Given the description of an element on the screen output the (x, y) to click on. 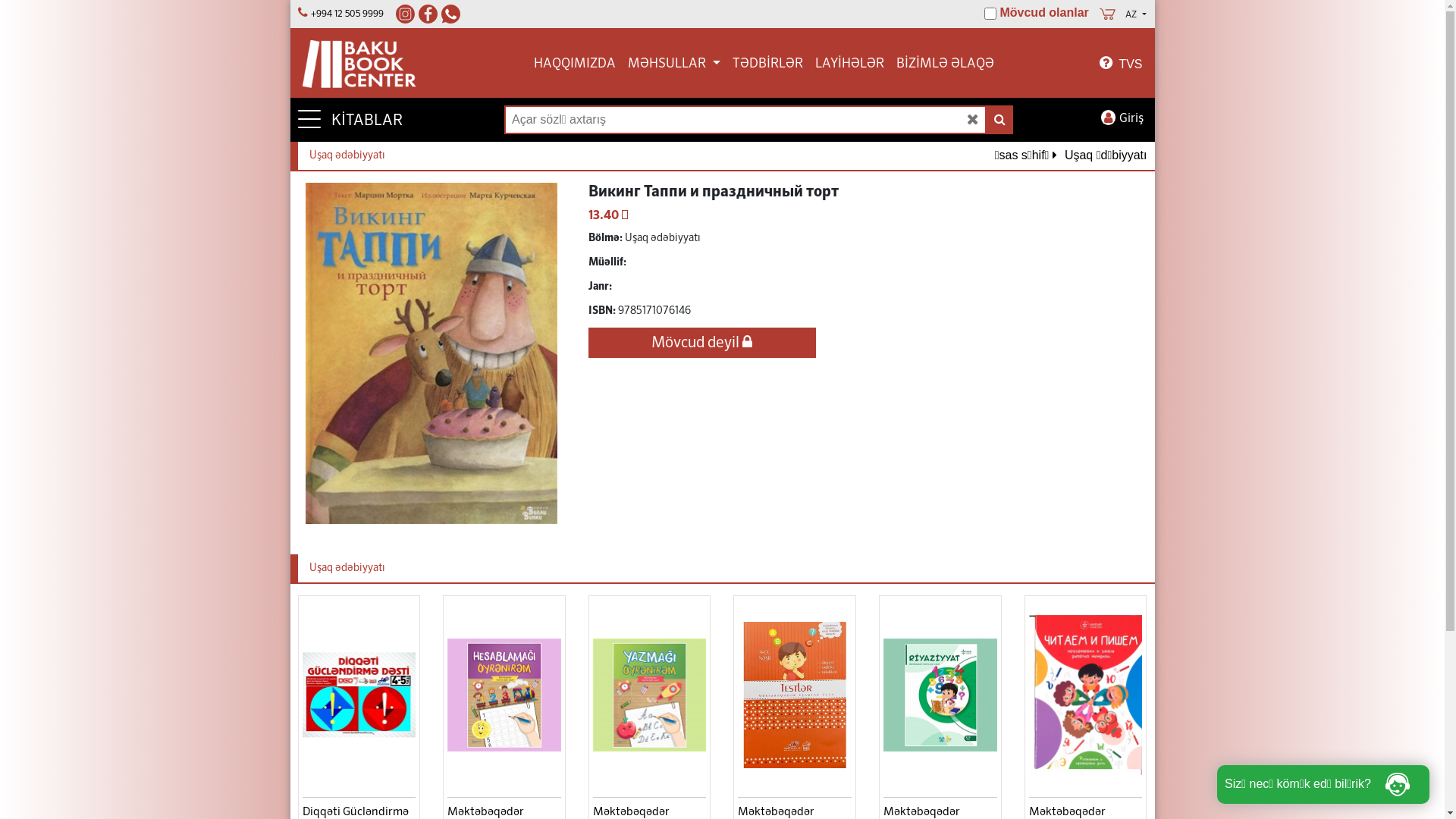
AZ Element type: text (1135, 14)
+994 12 505 9999 Element type: text (350, 13)
TVS Element type: text (1120, 63)
HAQQIMIZDA Element type: text (574, 64)
